Given the description of an element on the screen output the (x, y) to click on. 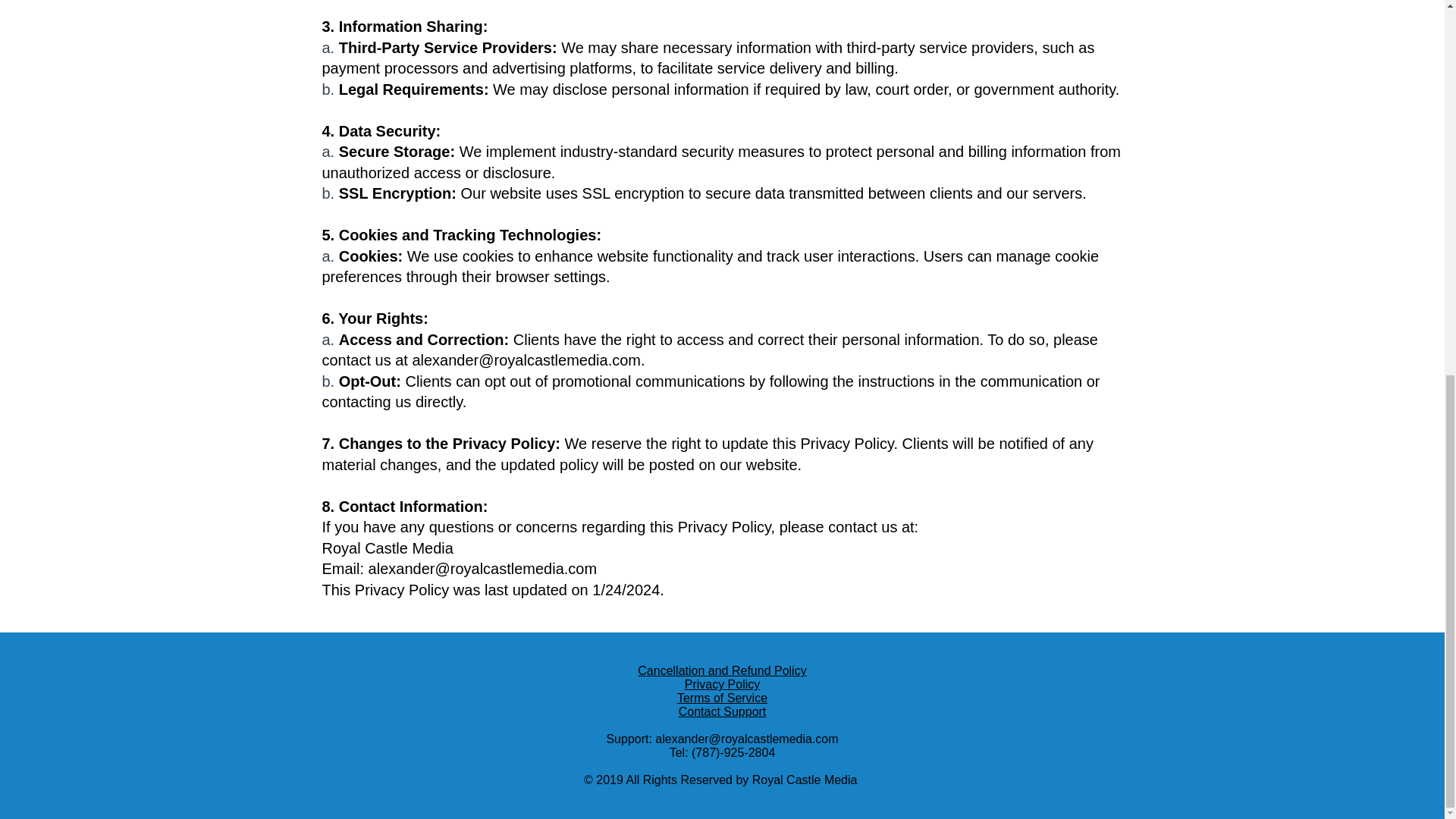
Contact Support (722, 711)
Terms of Service (722, 697)
Cancellation and Refund Policy (721, 670)
Privacy Policy (722, 684)
